Given the description of an element on the screen output the (x, y) to click on. 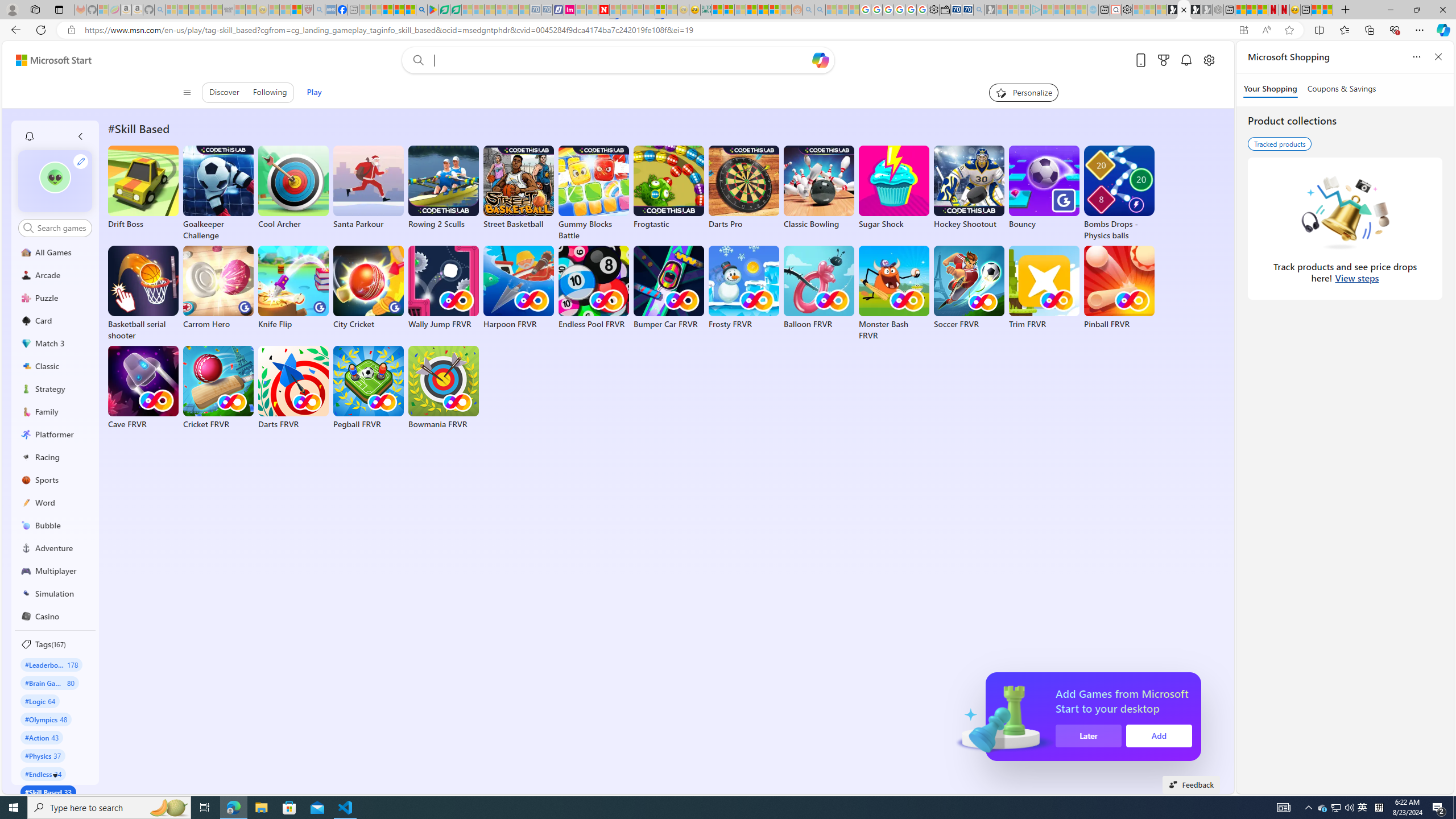
Latest Politics News & Archive | Newsweek.com (603, 9)
Later (1088, 736)
